Given the description of an element on the screen output the (x, y) to click on. 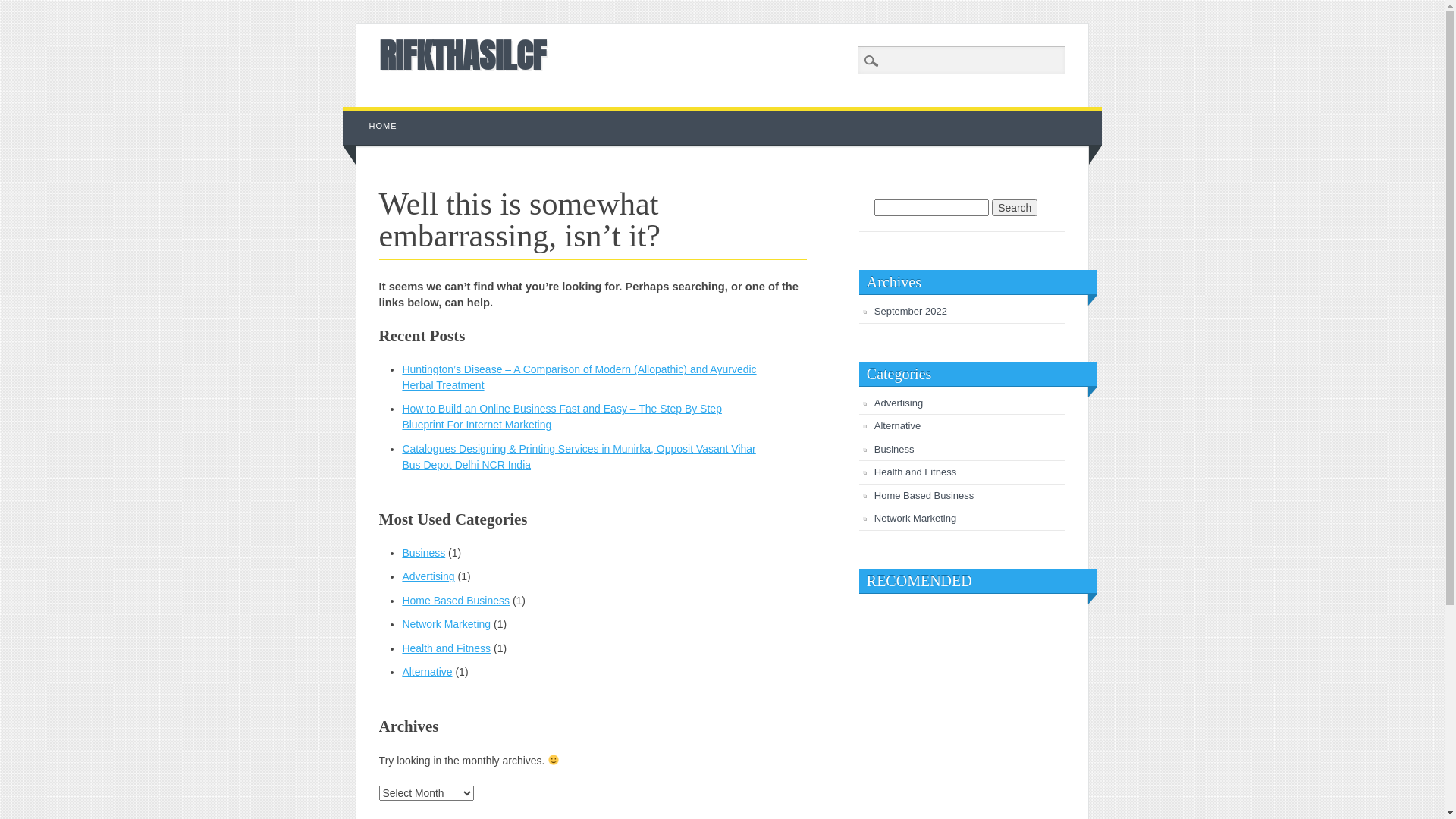
Business Element type: text (423, 552)
Home Based Business Element type: text (455, 600)
Alternative Element type: text (426, 671)
RIFKTHASILCF Element type: text (462, 55)
Network Marketing Element type: text (445, 624)
Advertising Element type: text (427, 576)
Health and Fitness Element type: text (915, 471)
Business Element type: text (894, 449)
Health and Fitness Element type: text (445, 648)
Advertising Element type: text (898, 402)
Search Element type: text (1014, 207)
Alternative Element type: text (897, 425)
HOME Element type: text (383, 125)
Search Element type: text (22, 8)
September 2022 Element type: text (910, 310)
Network Marketing Element type: text (915, 518)
Skip to content Element type: text (377, 114)
Home Based Business Element type: text (924, 495)
